Given the description of an element on the screen output the (x, y) to click on. 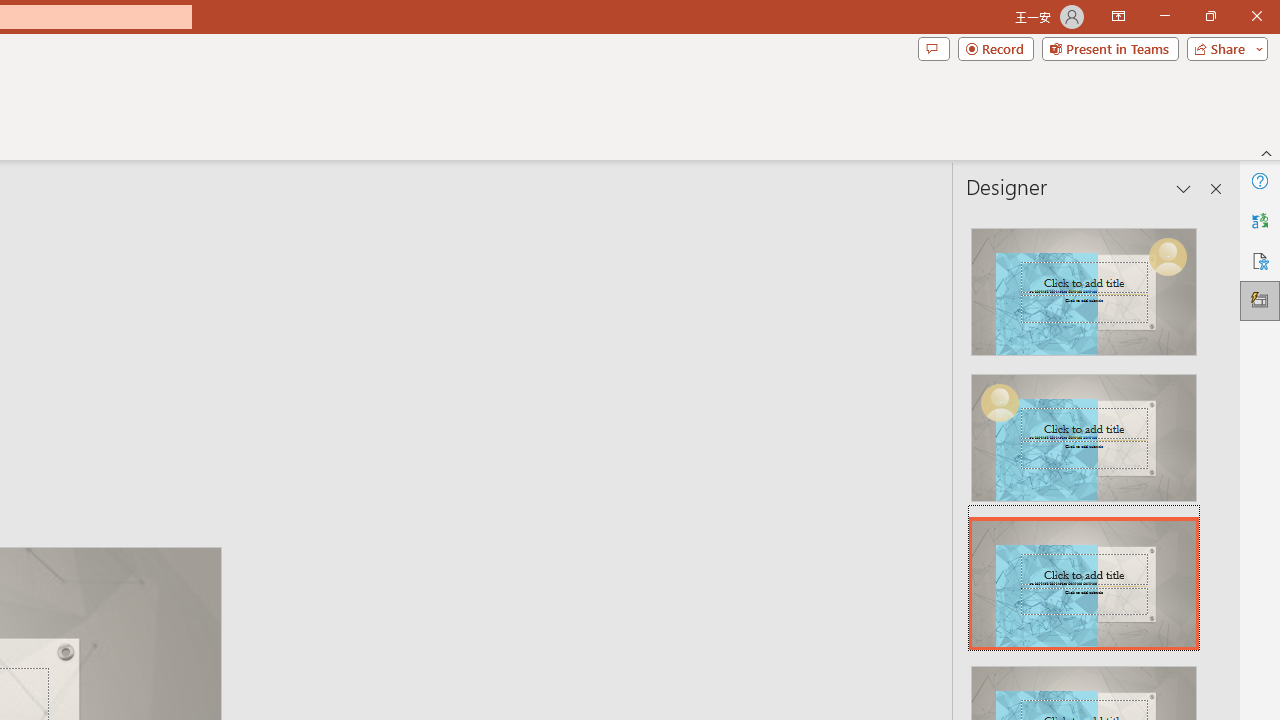
Recommended Design: Design Idea (1083, 286)
